Given the description of an element on the screen output the (x, y) to click on. 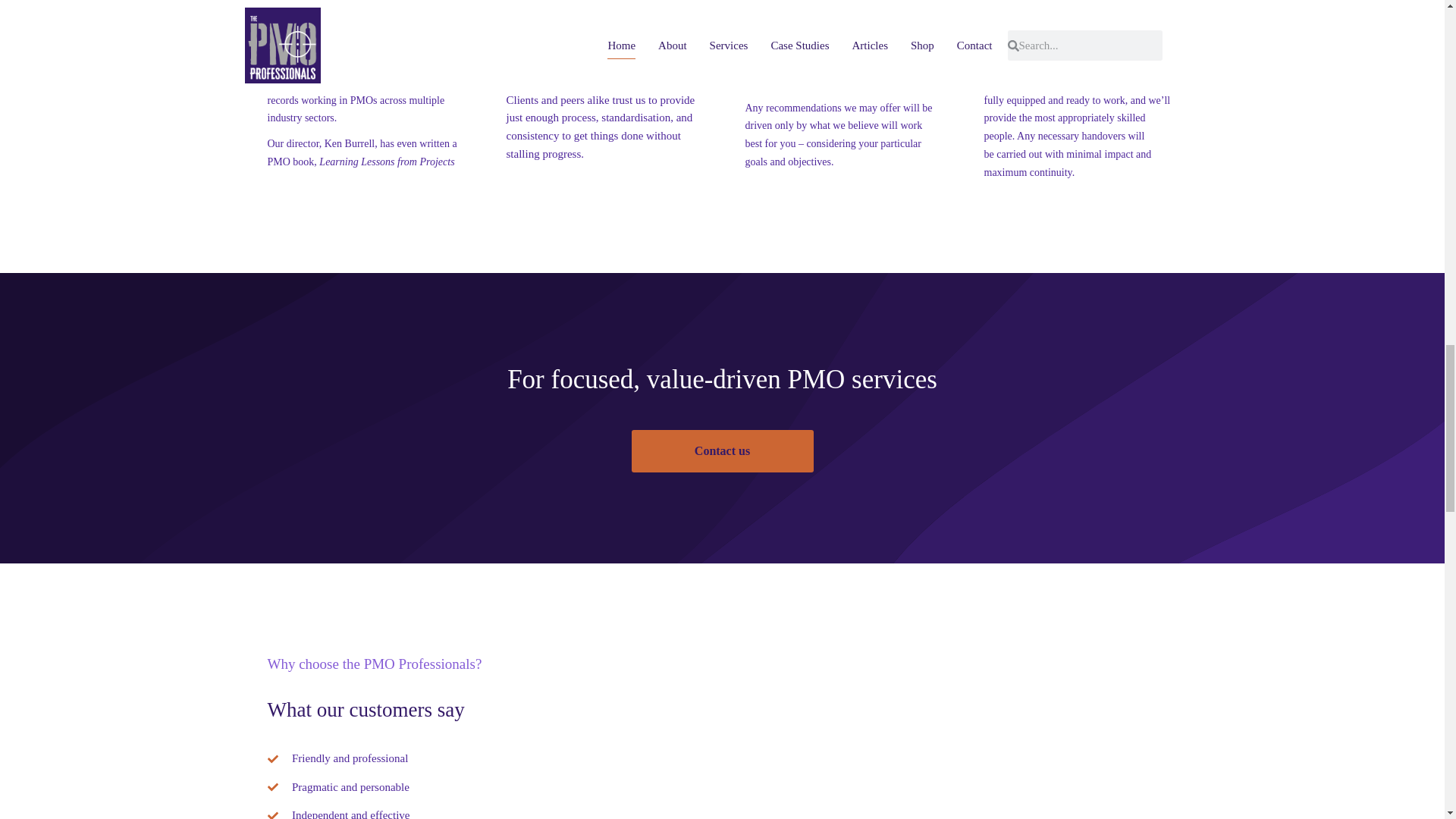
Contact us (721, 450)
